Given the description of an element on the screen output the (x, y) to click on. 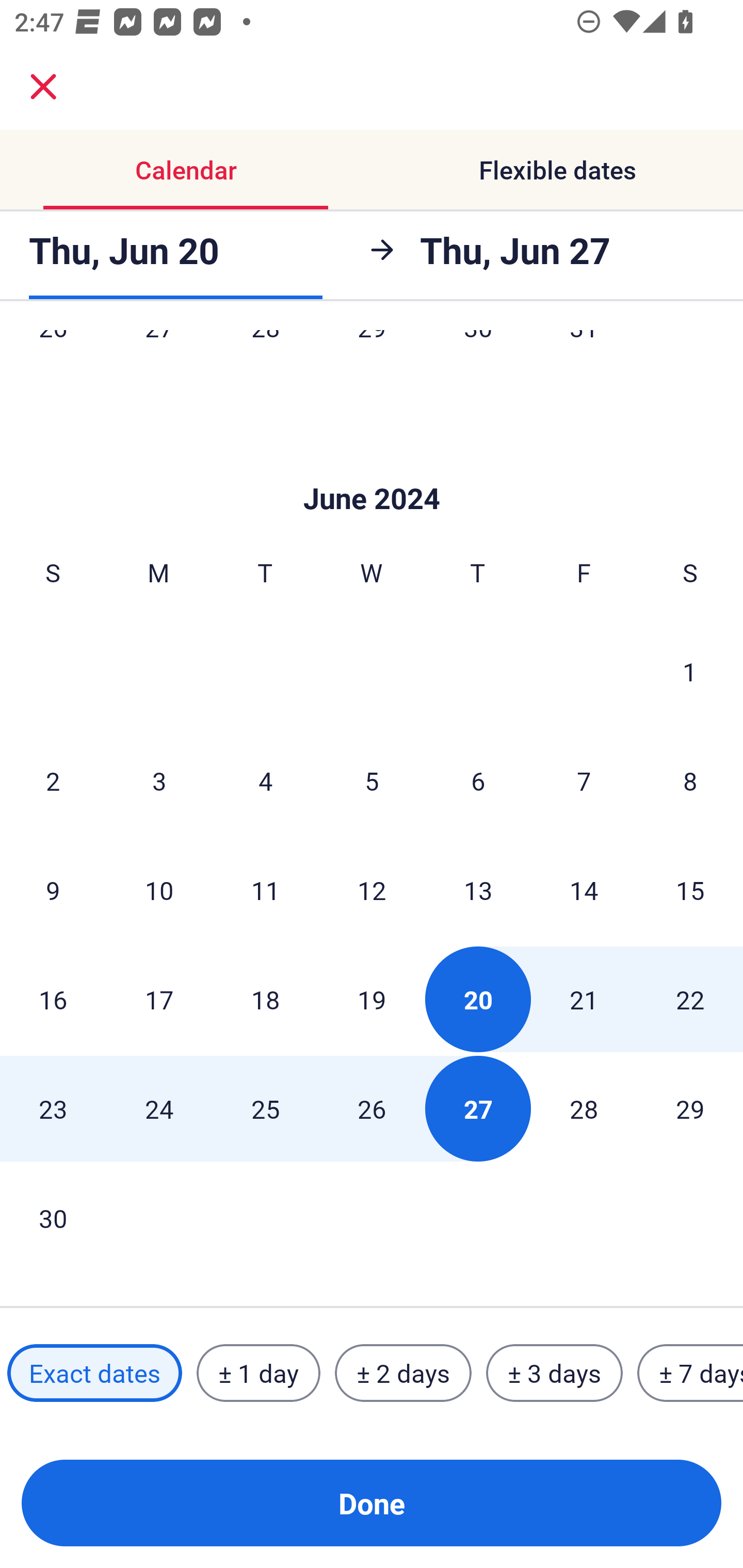
close. (43, 86)
Flexible dates (557, 170)
Skip to Done (371, 467)
1 Saturday, June 1, 2024 (689, 670)
2 Sunday, June 2, 2024 (53, 780)
3 Monday, June 3, 2024 (159, 780)
4 Tuesday, June 4, 2024 (265, 780)
5 Wednesday, June 5, 2024 (371, 780)
6 Thursday, June 6, 2024 (477, 780)
7 Friday, June 7, 2024 (584, 780)
8 Saturday, June 8, 2024 (690, 780)
9 Sunday, June 9, 2024 (53, 889)
10 Monday, June 10, 2024 (159, 889)
11 Tuesday, June 11, 2024 (265, 889)
12 Wednesday, June 12, 2024 (371, 889)
13 Thursday, June 13, 2024 (477, 889)
14 Friday, June 14, 2024 (584, 889)
15 Saturday, June 15, 2024 (690, 889)
16 Sunday, June 16, 2024 (53, 999)
17 Monday, June 17, 2024 (159, 999)
18 Tuesday, June 18, 2024 (265, 999)
19 Wednesday, June 19, 2024 (371, 999)
28 Friday, June 28, 2024 (584, 1108)
29 Saturday, June 29, 2024 (690, 1108)
30 Sunday, June 30, 2024 (53, 1218)
Exact dates (94, 1372)
± 1 day (258, 1372)
± 2 days (403, 1372)
± 3 days (553, 1372)
± 7 days (690, 1372)
Done (371, 1502)
